Given the description of an element on the screen output the (x, y) to click on. 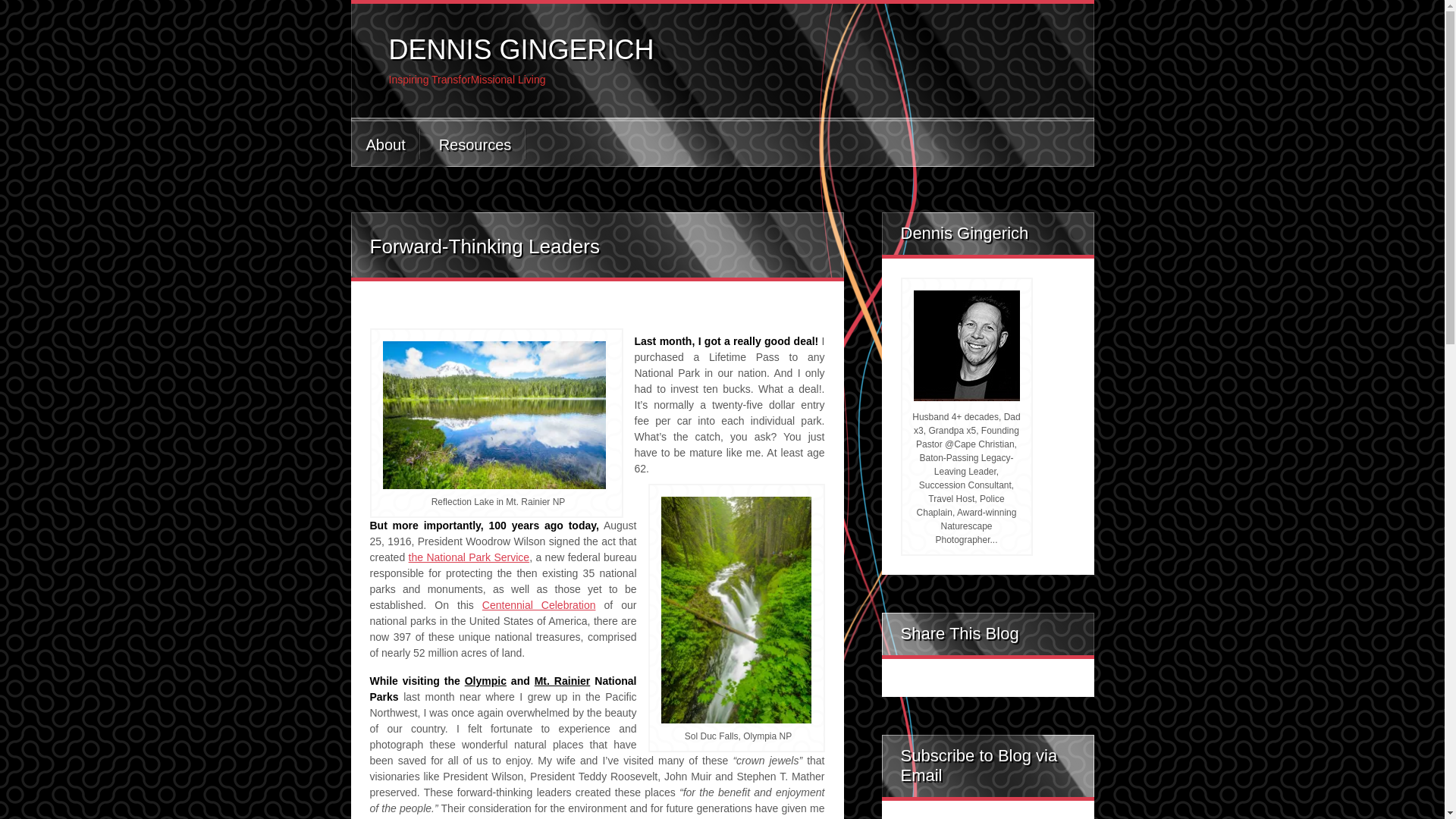
About (384, 144)
Forward-Thinking Leaders (484, 246)
DENNIS GINGERICH (520, 49)
Resources (475, 144)
DENNIS GINGERICH (520, 49)
Mt. Rainier (562, 680)
Olympic (485, 680)
the National Park Service (469, 557)
Forward-Thinking Leaders (484, 246)
Dennis Gingerich (965, 345)
Centennial Celebration (538, 604)
